Given the description of an element on the screen output the (x, y) to click on. 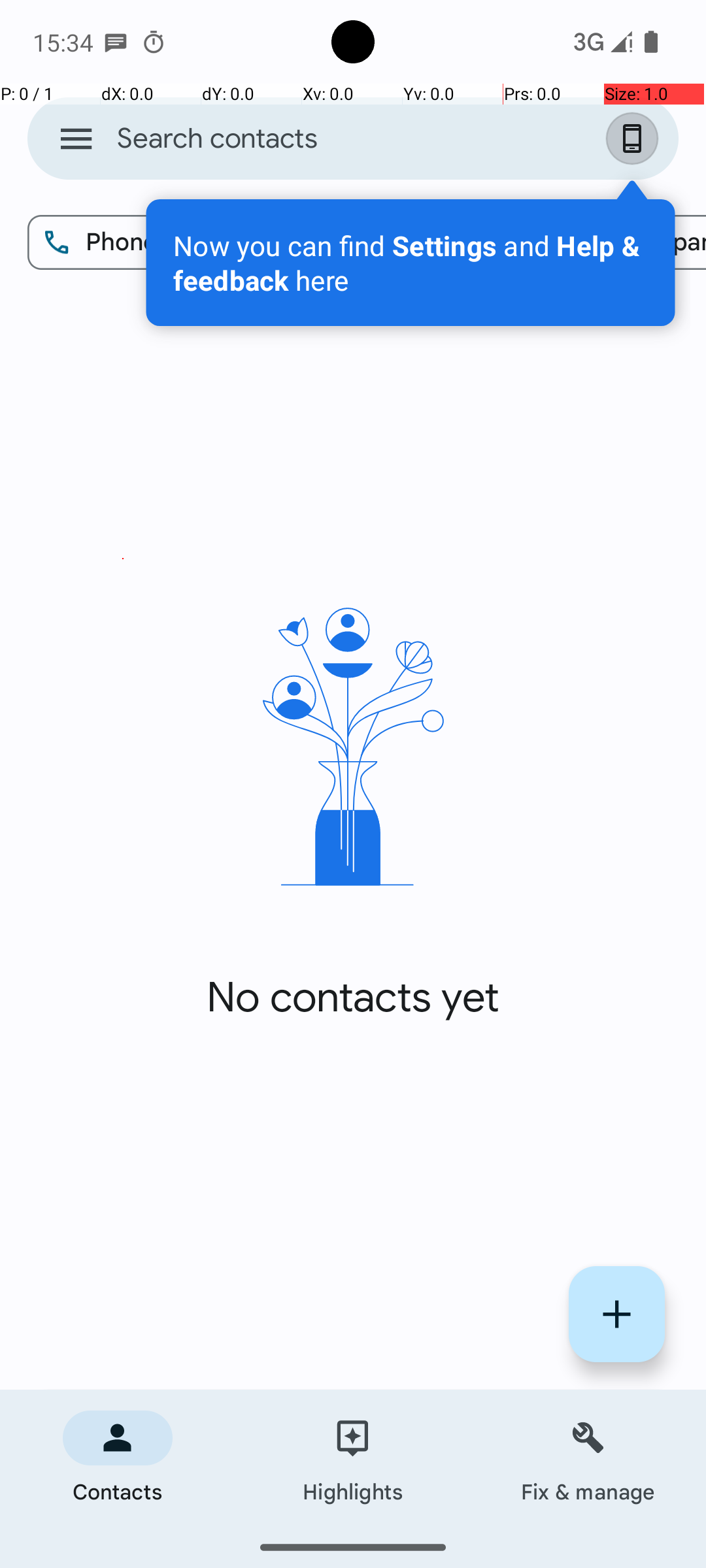
Now you can find Settings and Help & feedback here
Open account and settings. Element type: android.view.ViewGroup (409, 262)
